Given the description of an element on the screen output the (x, y) to click on. 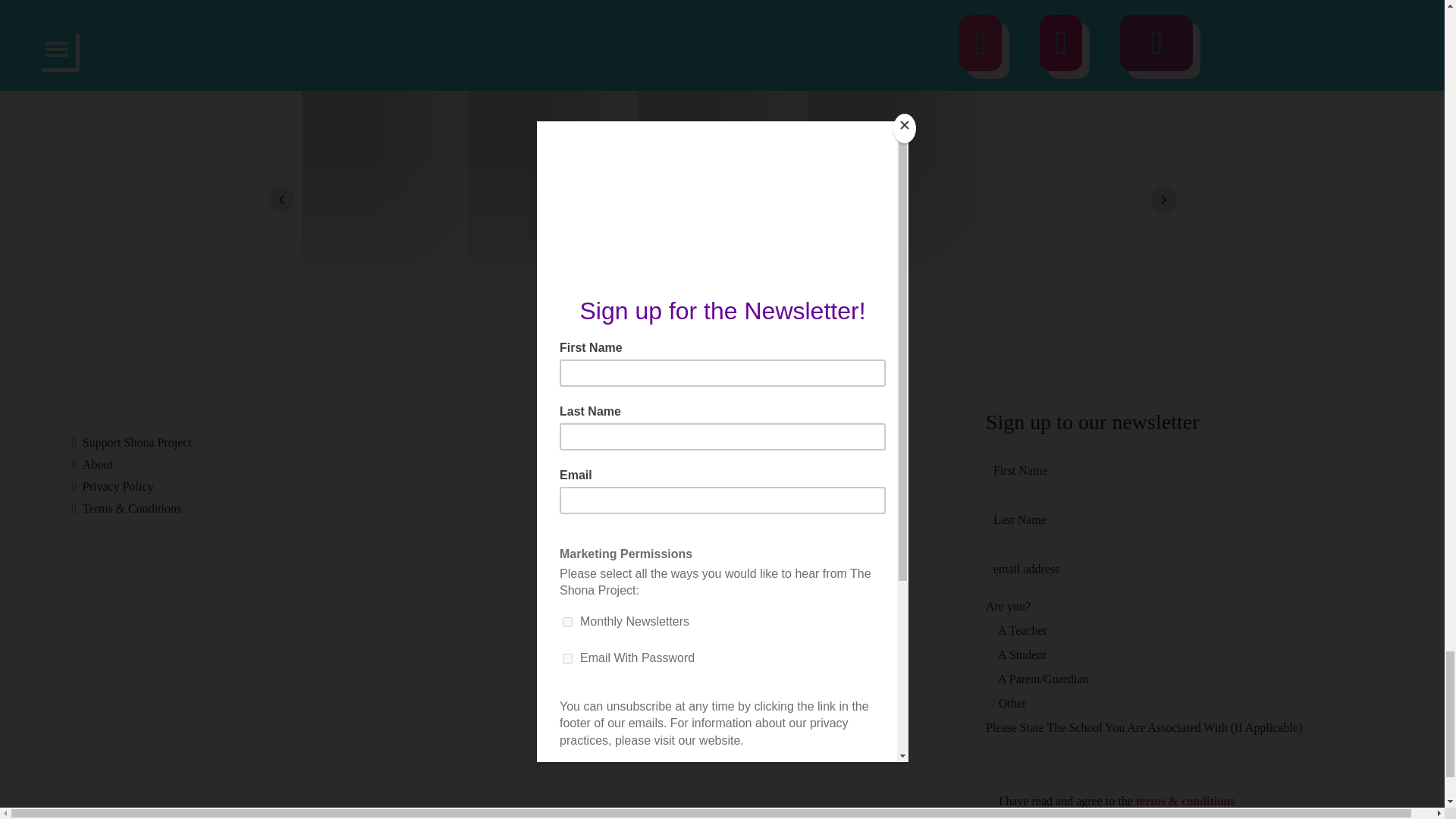
1 (990, 800)
Go! (1388, 817)
Other (990, 702)
A Teacher (990, 629)
A Student (990, 654)
